Given the description of an element on the screen output the (x, y) to click on. 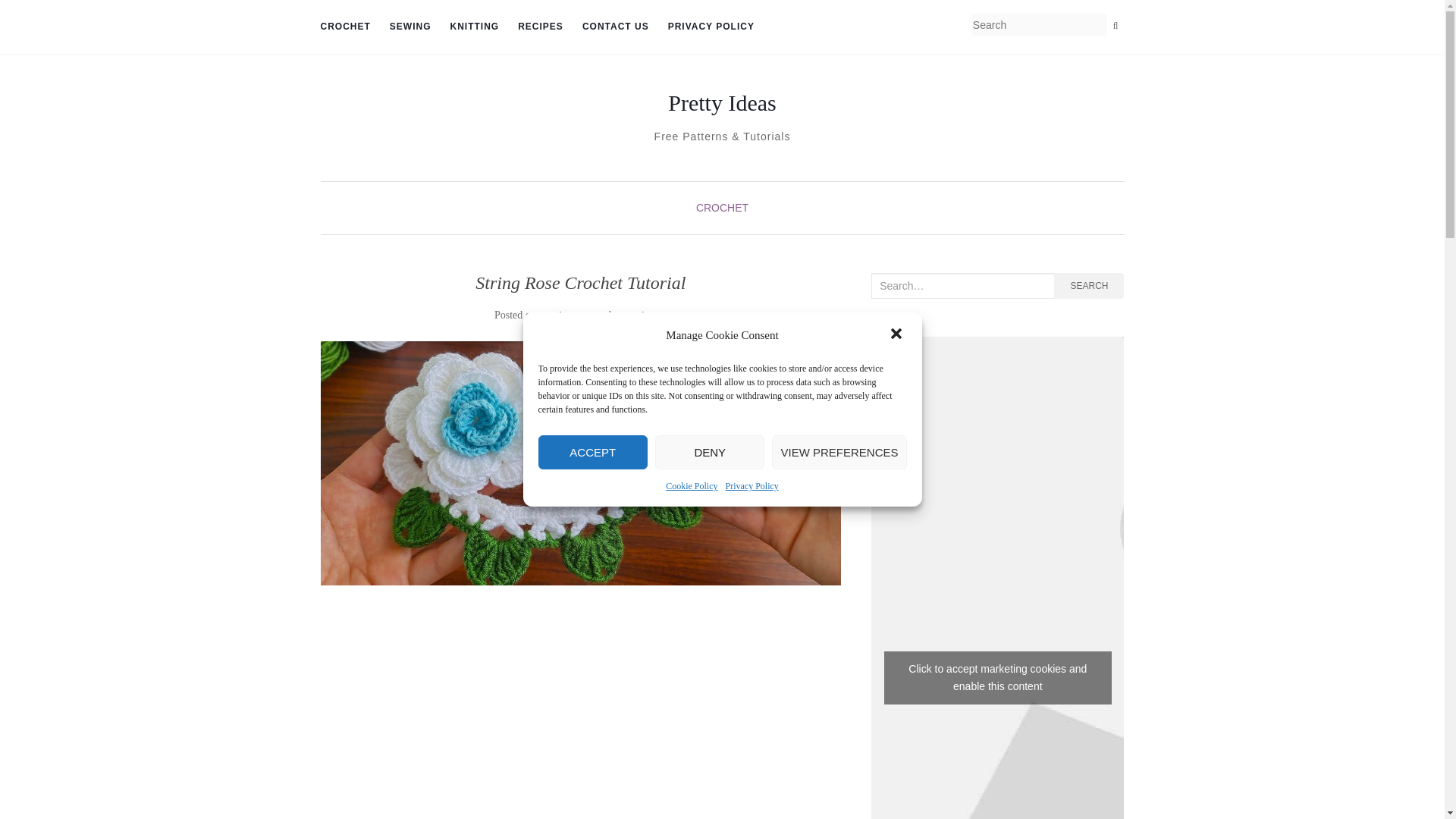
Contact Us (615, 27)
Privacy Policy (711, 27)
CROCHET (344, 27)
RECIPES (540, 27)
SEWING (410, 27)
DSadmin (641, 315)
Sewing (410, 27)
Search for: (962, 285)
CONTACT US (615, 27)
DENY (709, 451)
Crochet (344, 27)
March 30, 2024 (569, 315)
KNITTING (474, 27)
ACCEPT (592, 451)
Knitting (474, 27)
